Given the description of an element on the screen output the (x, y) to click on. 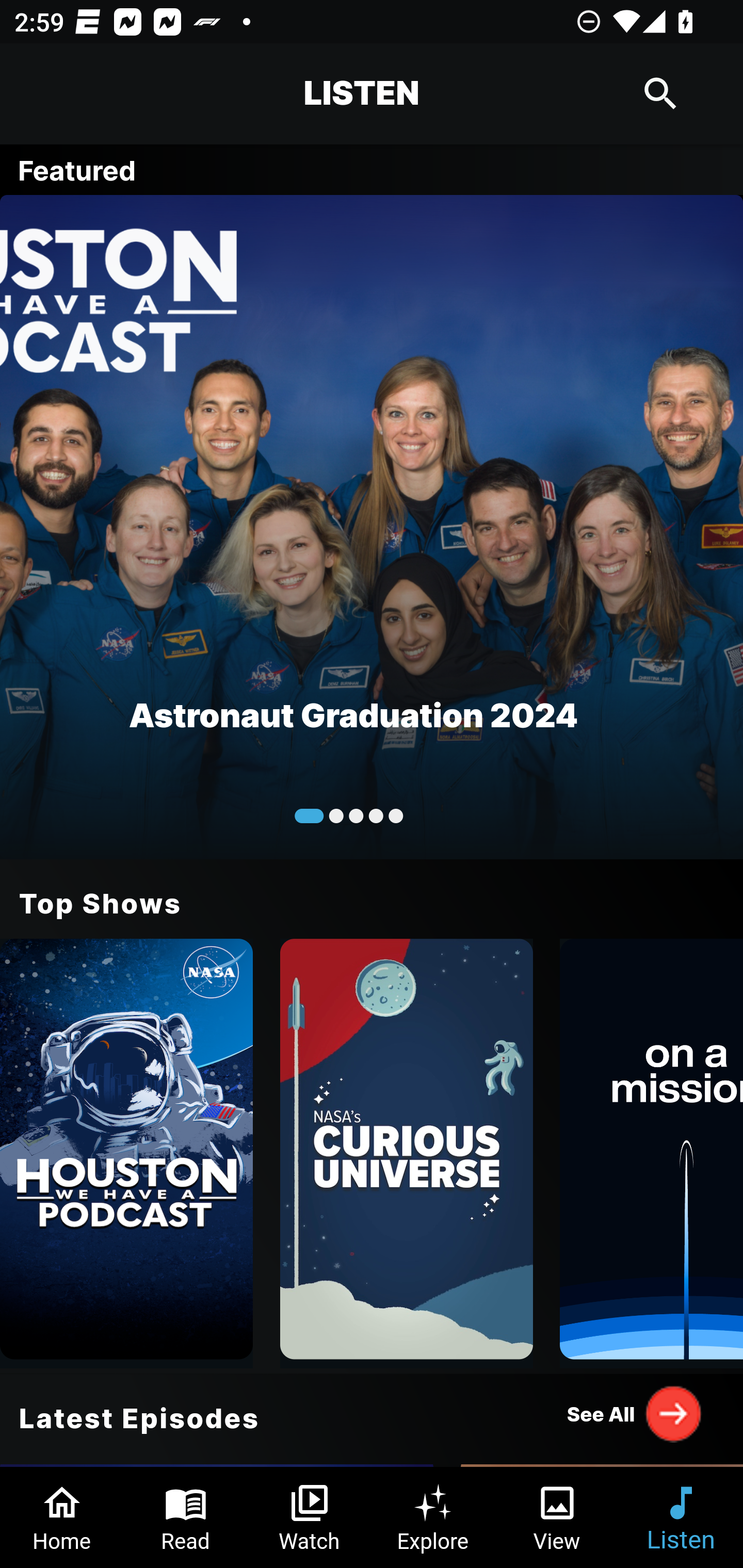
Astronaut Graduation 2024 (371, 526)
See All (634, 1413)
Home
Tab 1 of 6 (62, 1517)
Read
Tab 2 of 6 (185, 1517)
Watch
Tab 3 of 6 (309, 1517)
Explore
Tab 4 of 6 (433, 1517)
View
Tab 5 of 6 (556, 1517)
Listen
Tab 6 of 6 (680, 1517)
